Given the description of an element on the screen output the (x, y) to click on. 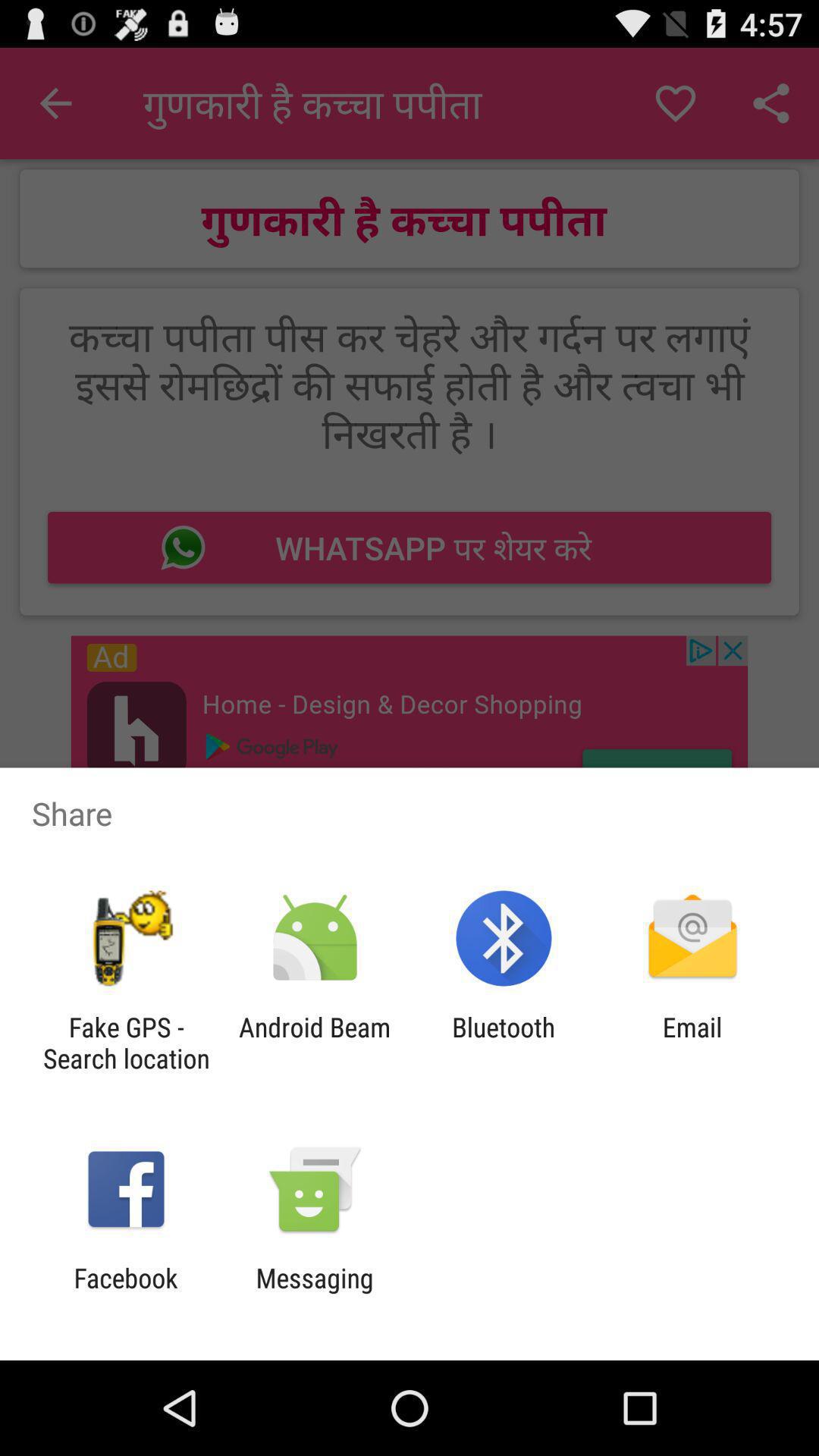
turn off the bluetooth (503, 1042)
